Given the description of an element on the screen output the (x, y) to click on. 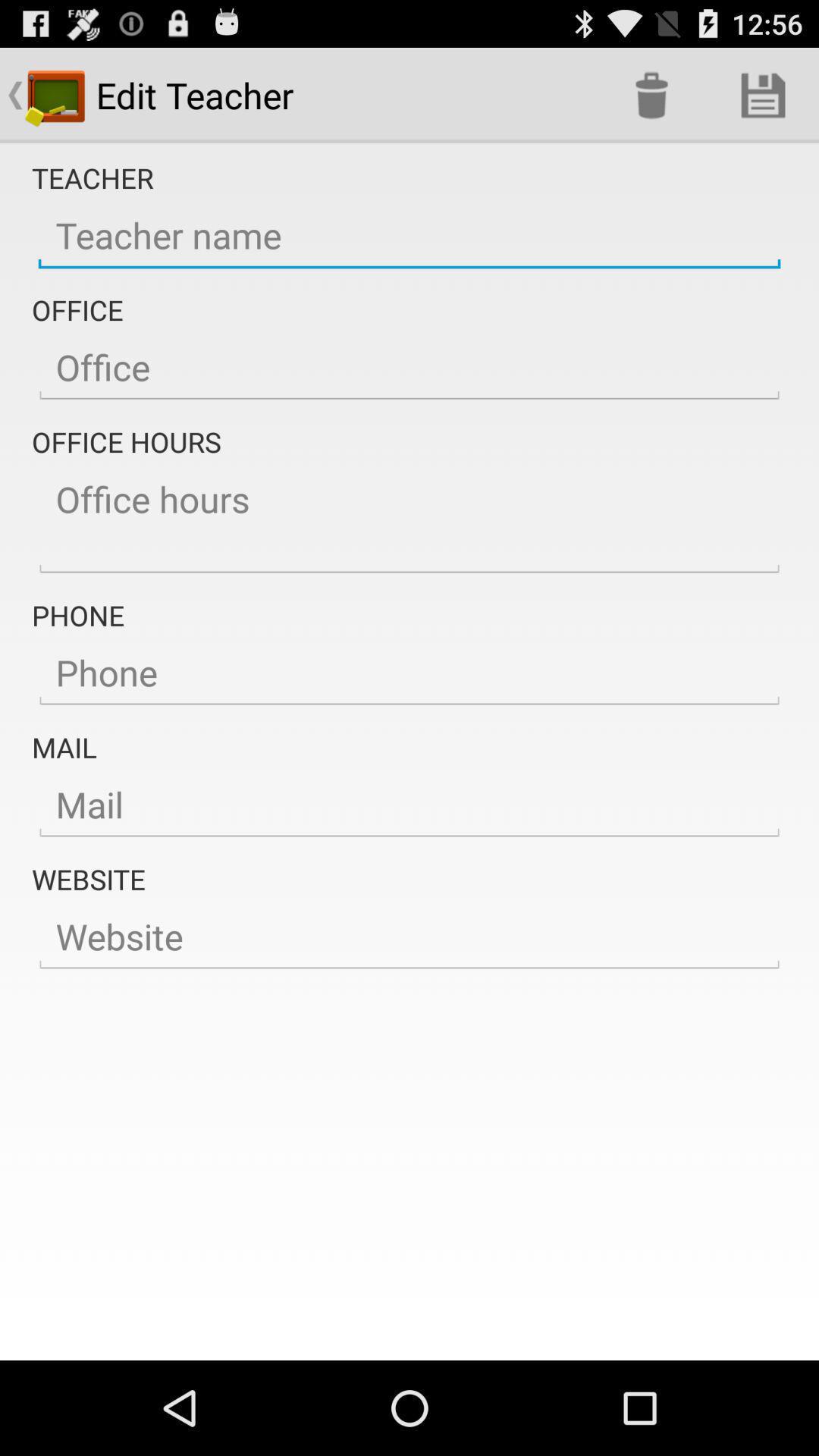
enter teacher name (409, 235)
